Given the description of an element on the screen output the (x, y) to click on. 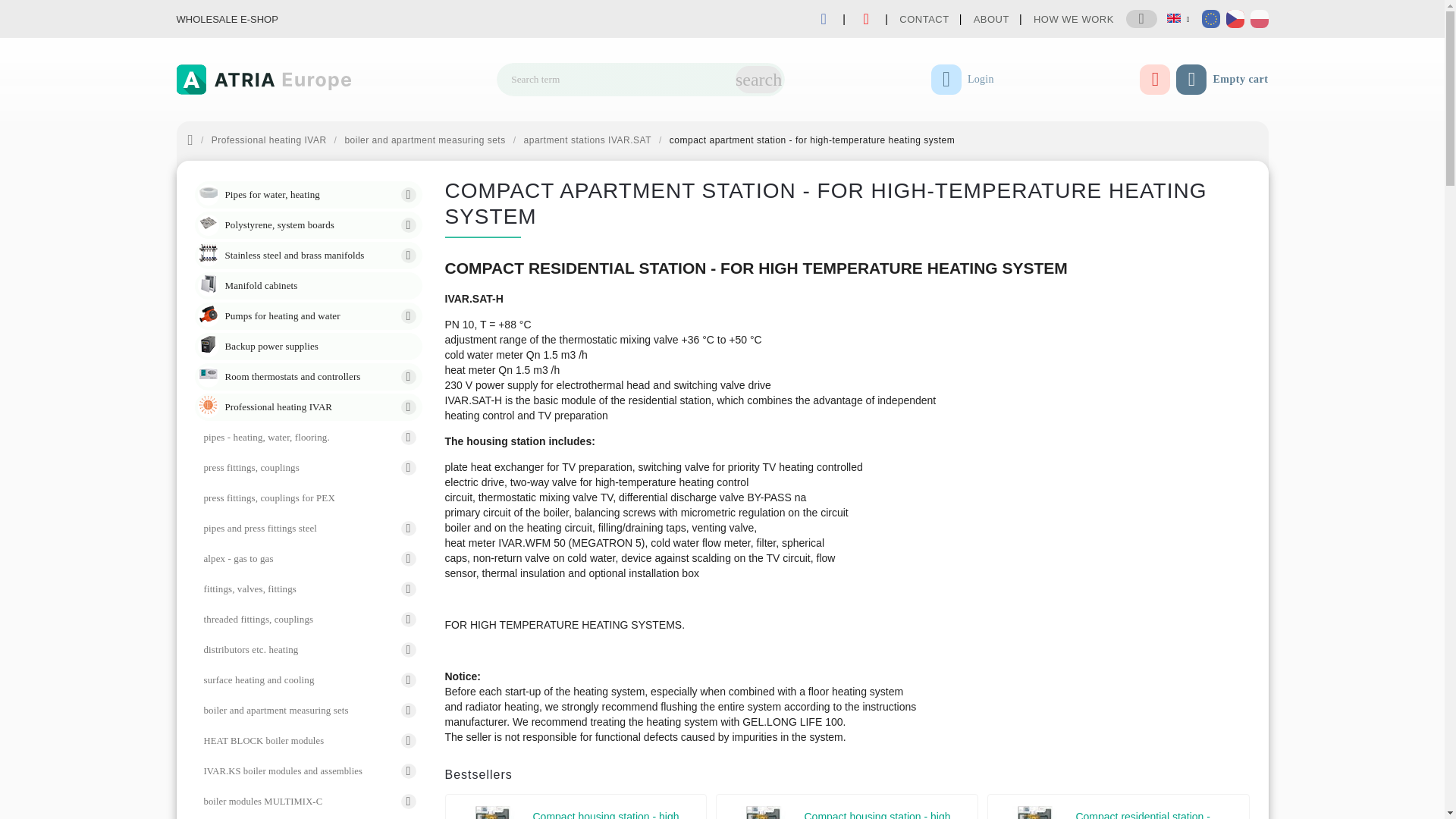
HOW WE WORK (1073, 18)
Search (758, 79)
CONTACT (923, 18)
ABOUT (991, 18)
